Given the description of an element on the screen output the (x, y) to click on. 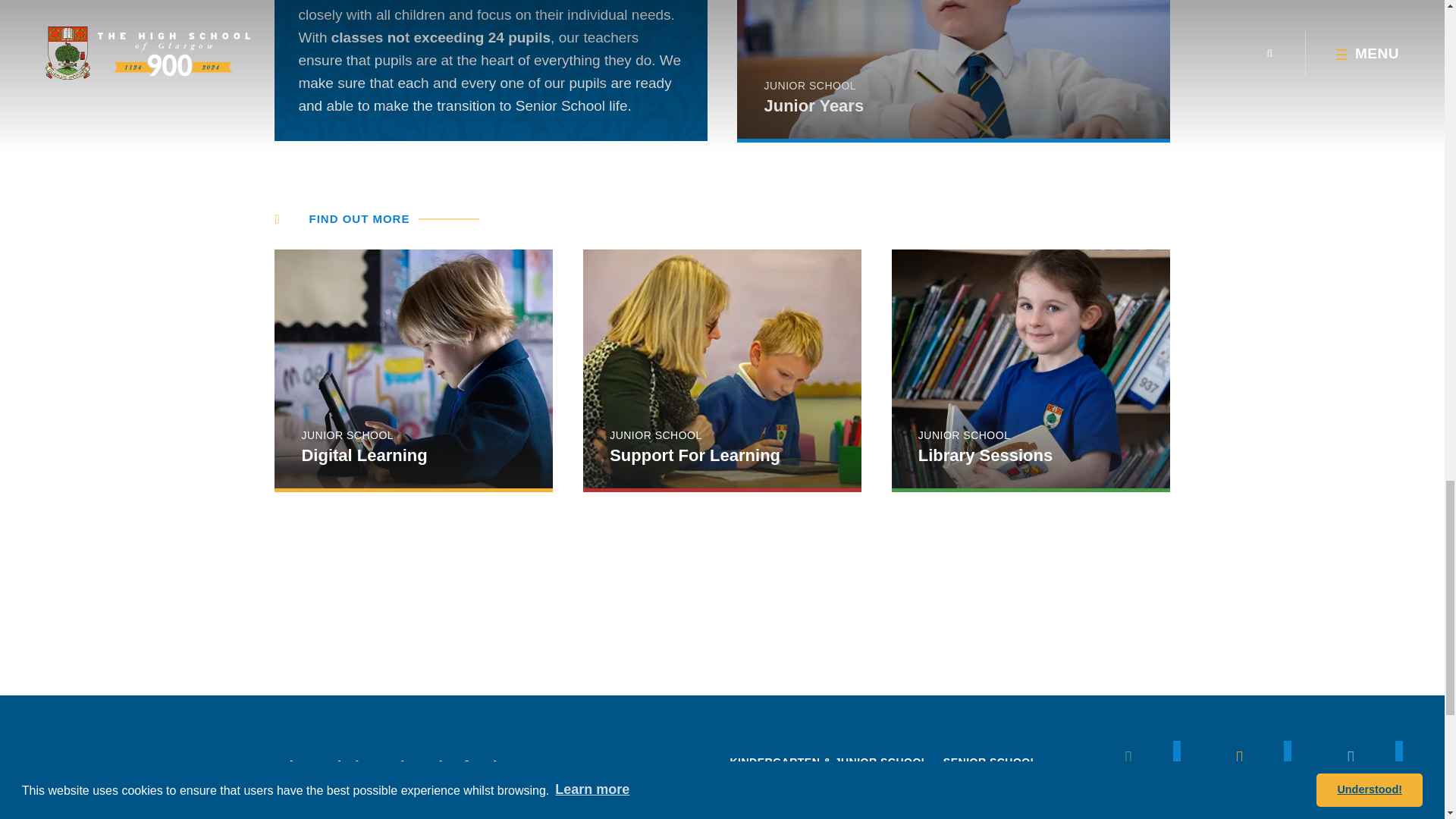
Junior Years (952, 69)
Library Sessions (1030, 368)
Support For Learning (722, 368)
Digital Learning (414, 368)
